Given the description of an element on the screen output the (x, y) to click on. 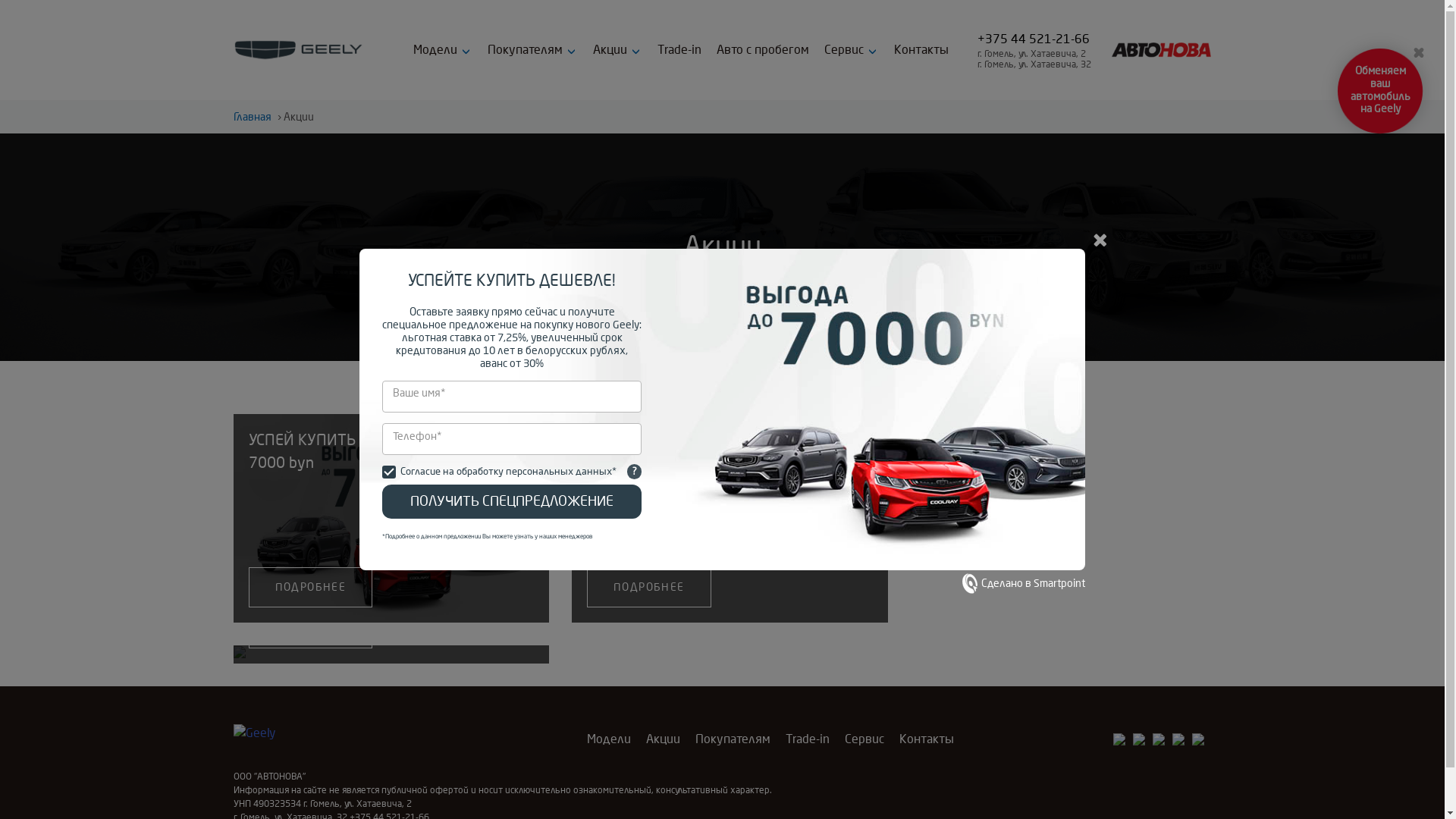
+375 44 521-21-66 Element type: text (1033, 39)
? Element type: text (634, 471)
Trade-in Element type: text (807, 739)
Trade-in Element type: text (679, 49)
